Given the description of an element on the screen output the (x, y) to click on. 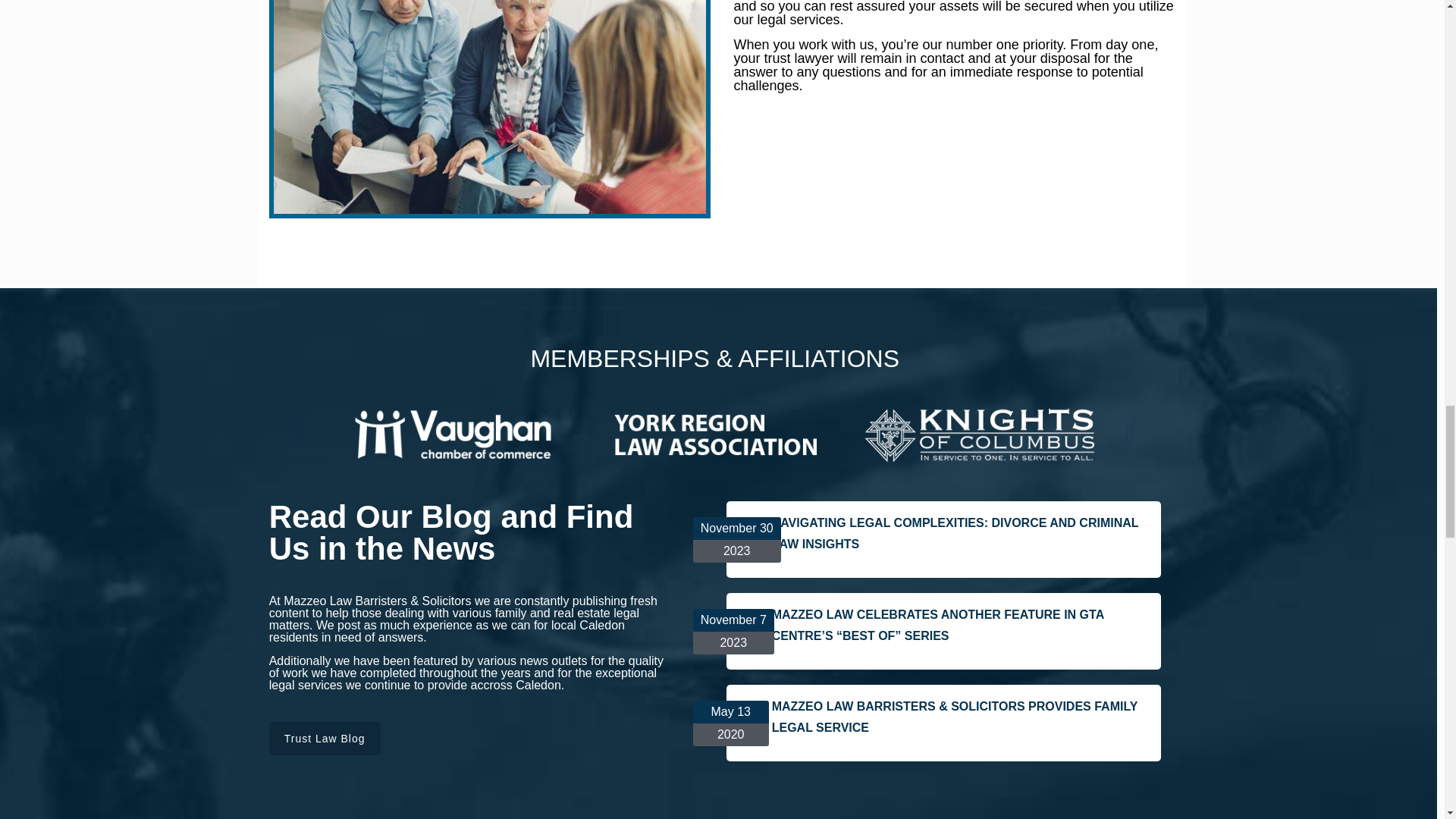
estates-lawyer (489, 106)
